Given the description of an element on the screen output the (x, y) to click on. 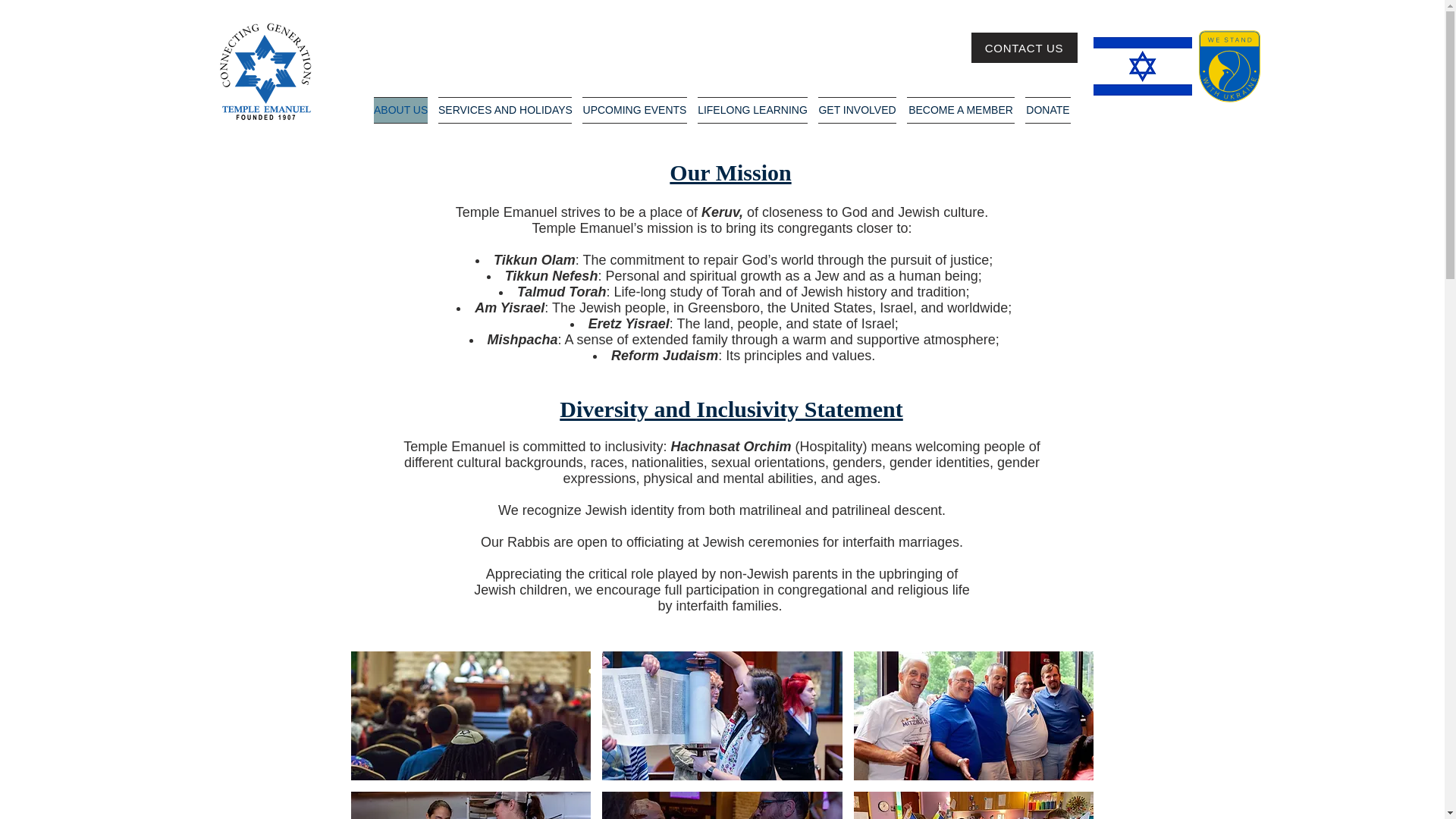
GET INVOLVED (856, 110)
DONATE (1047, 110)
CONTACT US (1024, 47)
LIFELONG LEARNING (752, 110)
ABOUT US (400, 110)
SERVICES AND HOLIDAYS (504, 110)
BECOME A MEMBER (960, 110)
UPCOMING EVENTS (634, 110)
